Given the description of an element on the screen output the (x, y) to click on. 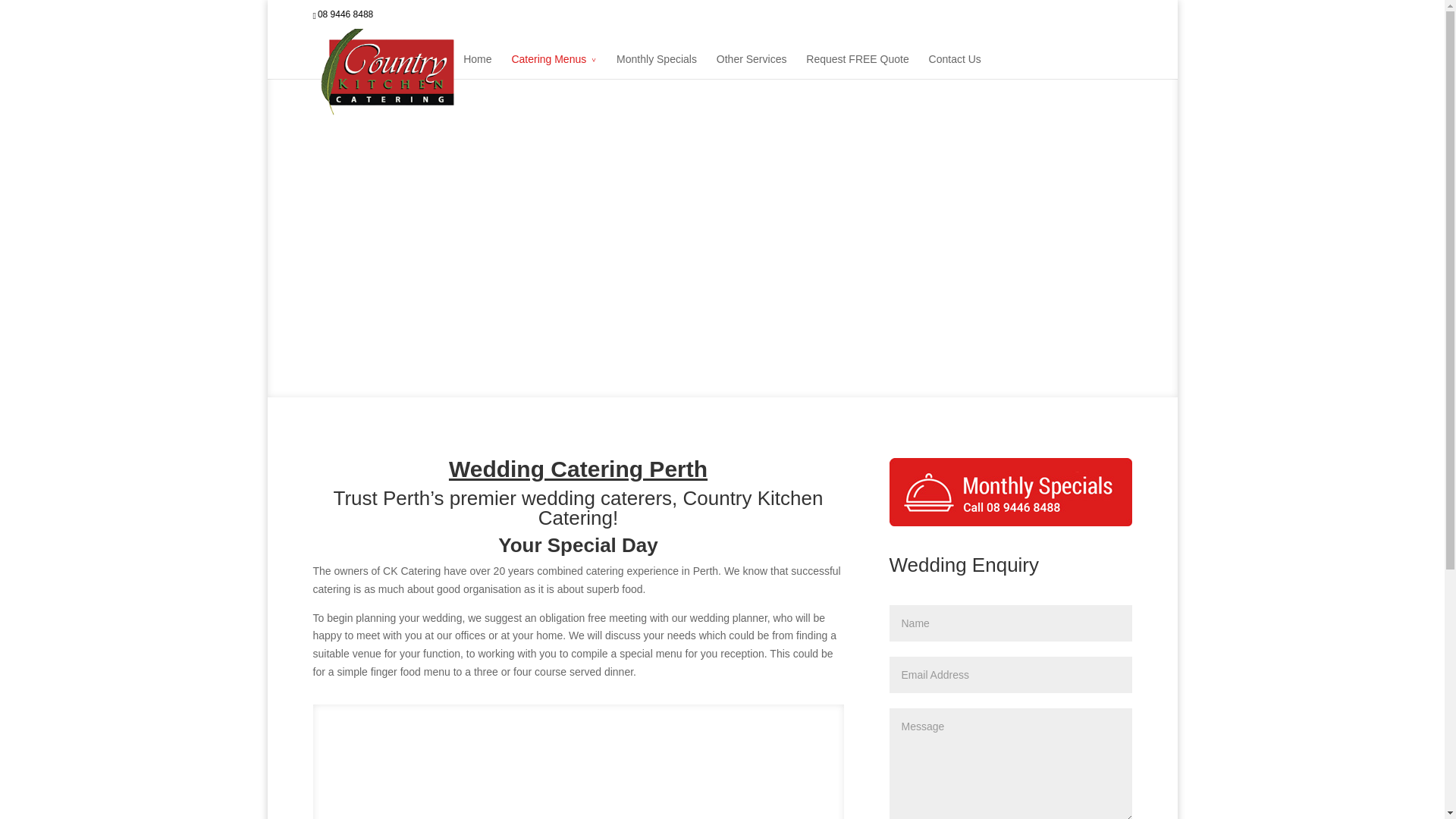
Menus (553, 64)
Contact Us (954, 64)
Contact Us (954, 64)
Home (477, 64)
Email Address (1009, 674)
Monthly Specials (656, 64)
Request FREE Quote (857, 64)
Other Services (751, 64)
Name (1009, 623)
Catering Menus (553, 64)
make your Special Day PERFECT - Call 08 9446 8488 (1009, 491)
